Given the description of an element on the screen output the (x, y) to click on. 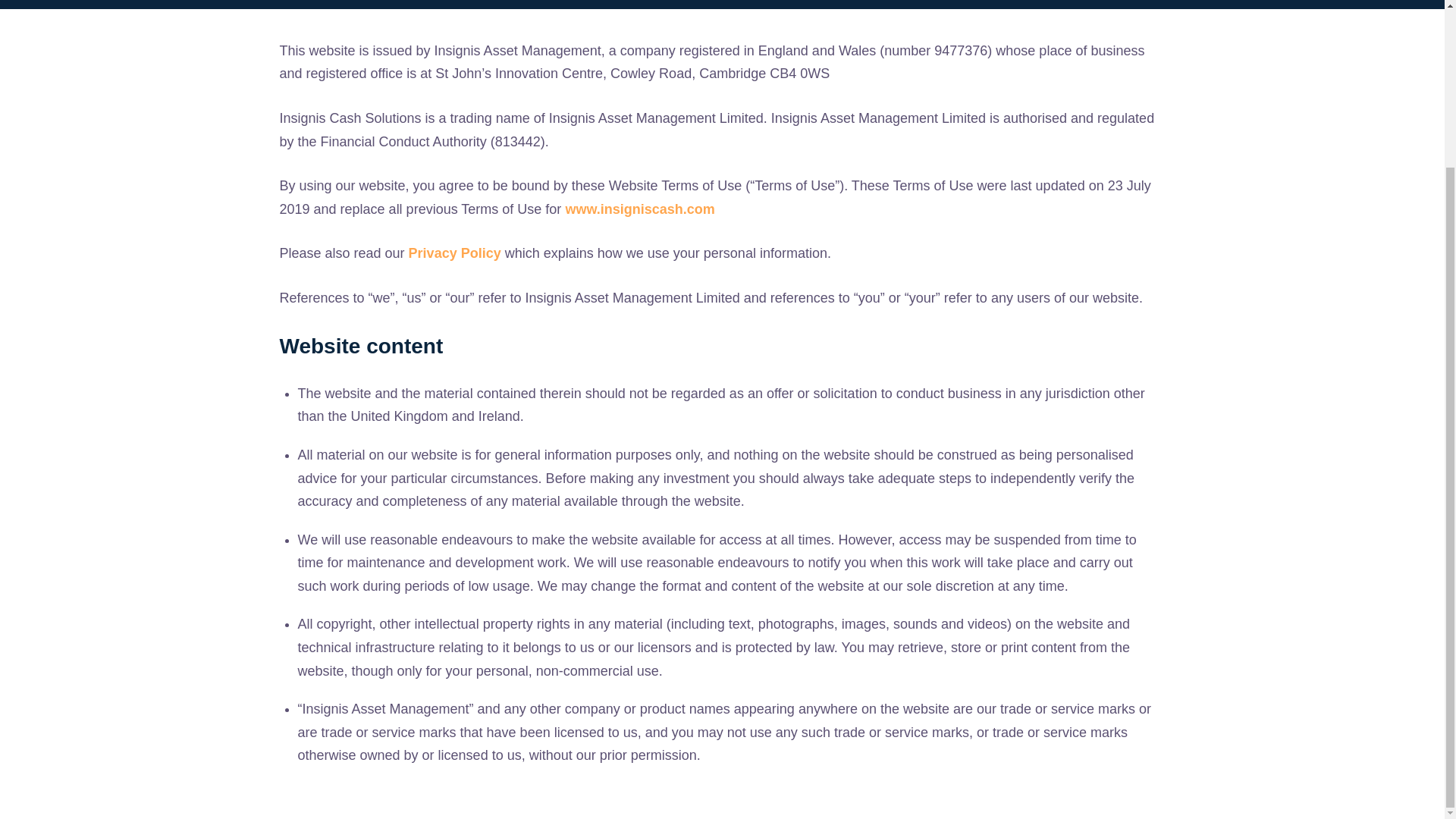
www.insigniscash.com (639, 209)
